Given the description of an element on the screen output the (x, y) to click on. 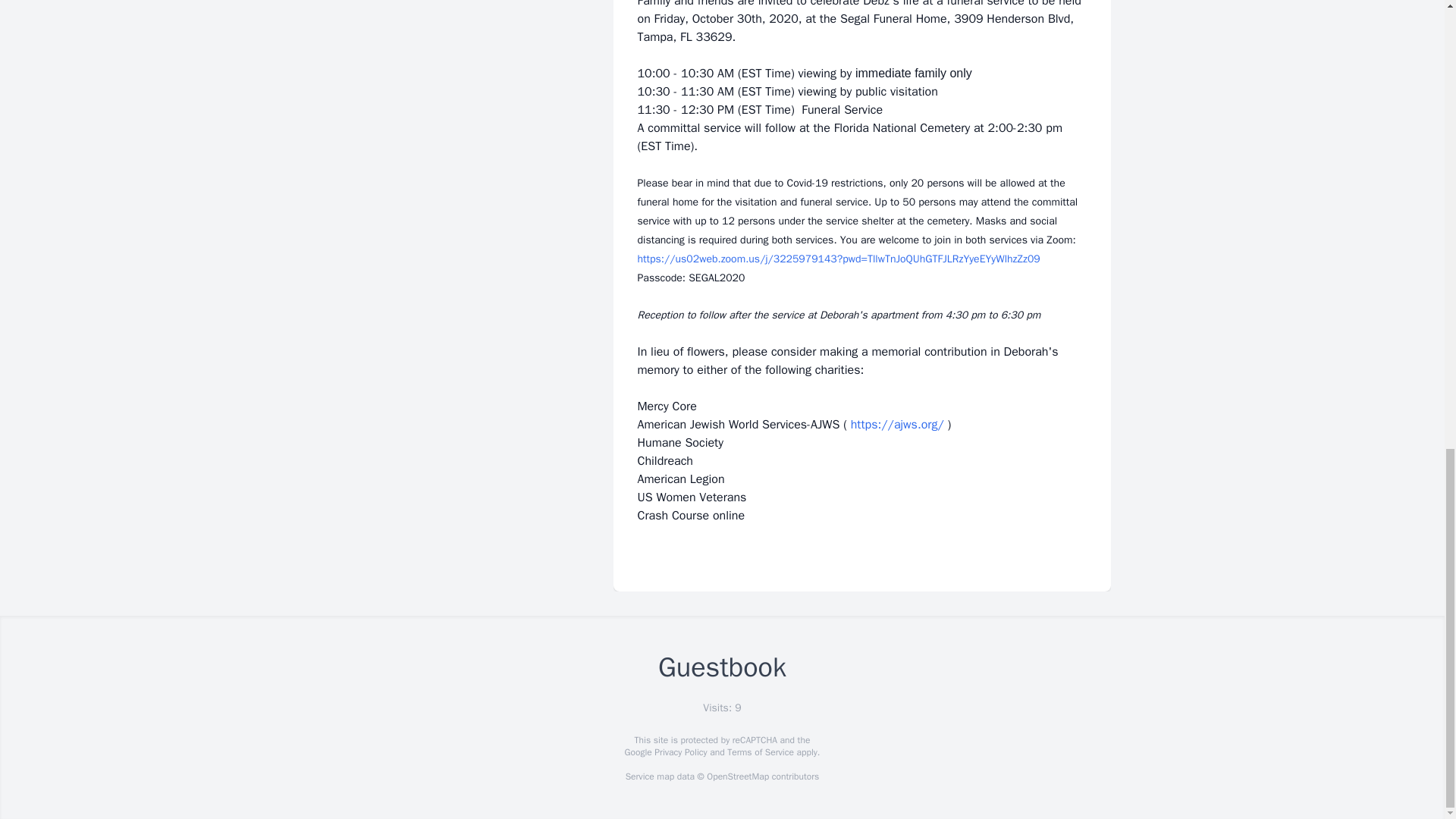
Terms of Service (759, 752)
Privacy Policy (679, 752)
OpenStreetMap (737, 776)
